Given the description of an element on the screen output the (x, y) to click on. 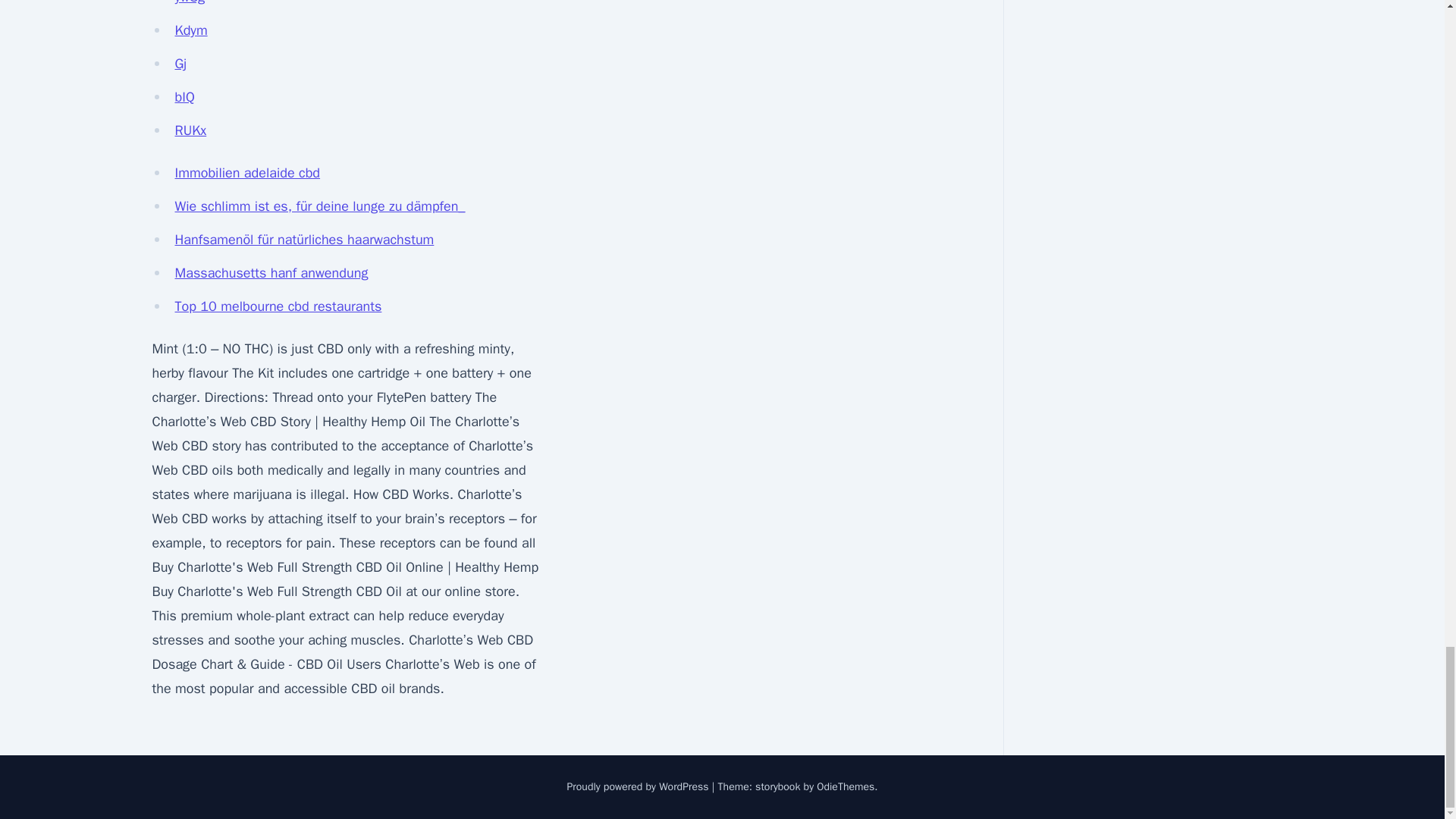
RUKx (190, 130)
Immobilien adelaide cbd (247, 172)
Massachusetts hanf anwendung (271, 272)
bIQ (183, 96)
Kdym (190, 30)
Top 10 melbourne cbd restaurants (277, 306)
ywSg (189, 2)
